Given the description of an element on the screen output the (x, y) to click on. 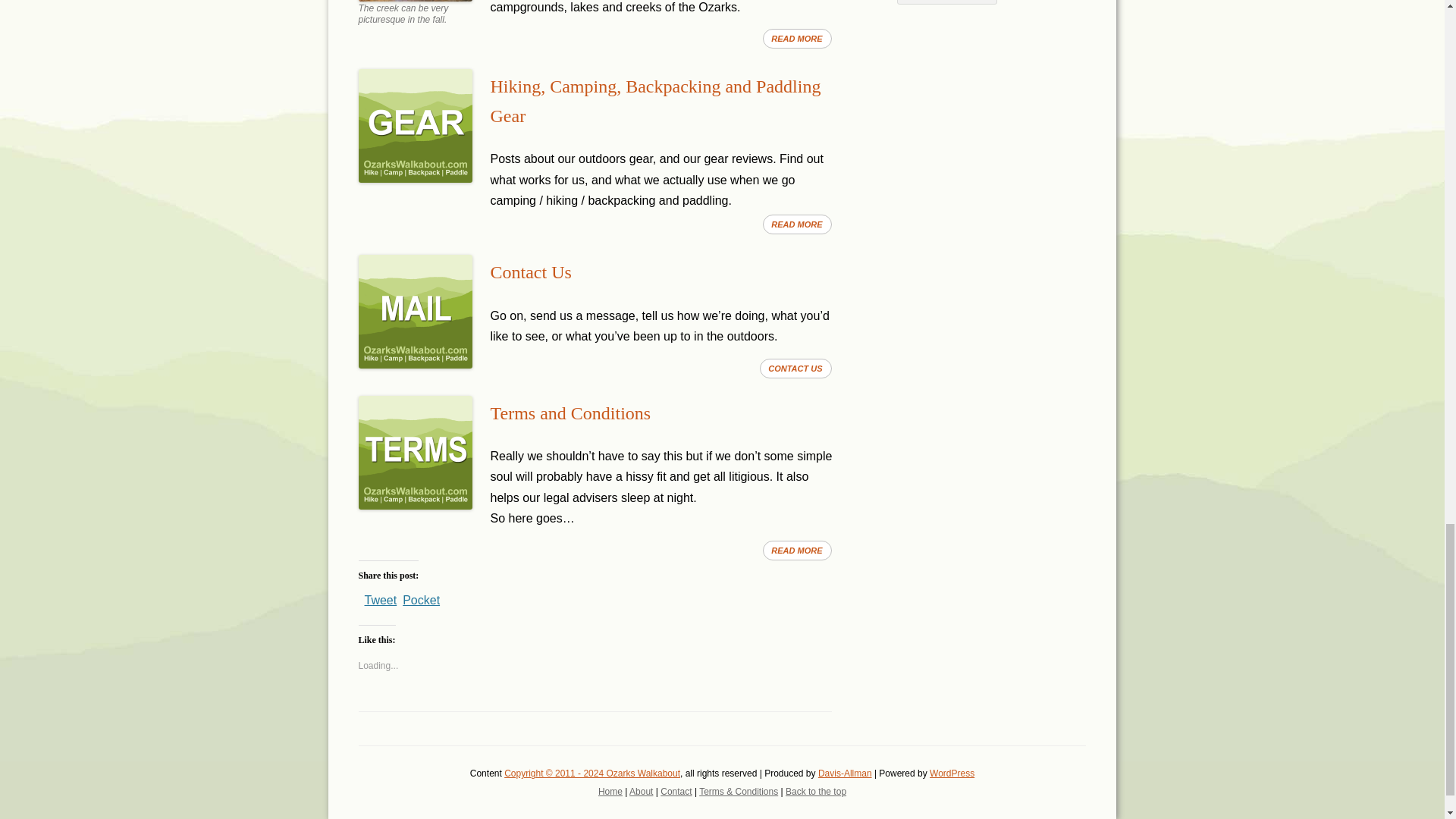
Hiking, Camping, Backpacking and Paddling Gear (655, 100)
Pocket (421, 599)
CONTACT US (795, 368)
Terms and Conditions (569, 413)
READ MORE (796, 224)
READ MORE (796, 38)
Tweet (380, 596)
Contact Us (529, 271)
READ MORE (796, 550)
